Given the description of an element on the screen output the (x, y) to click on. 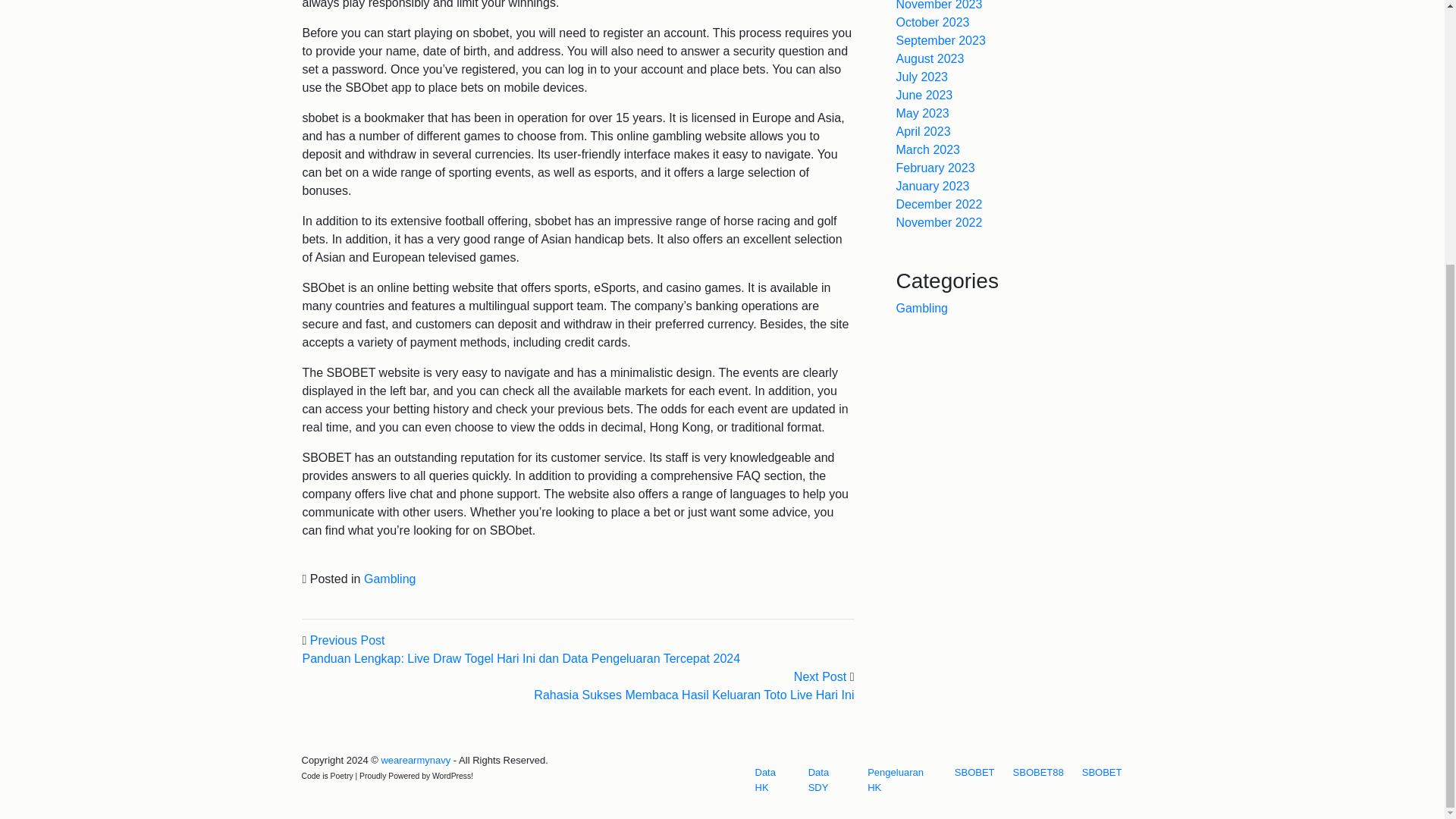
August 2023 (929, 58)
January 2023 (932, 185)
Gambling (389, 578)
July 2023 (922, 76)
SBOBET (975, 772)
November 2022 (939, 222)
Data SDY (829, 779)
October 2023 (932, 21)
May 2023 (922, 113)
